Given the description of an element on the screen output the (x, y) to click on. 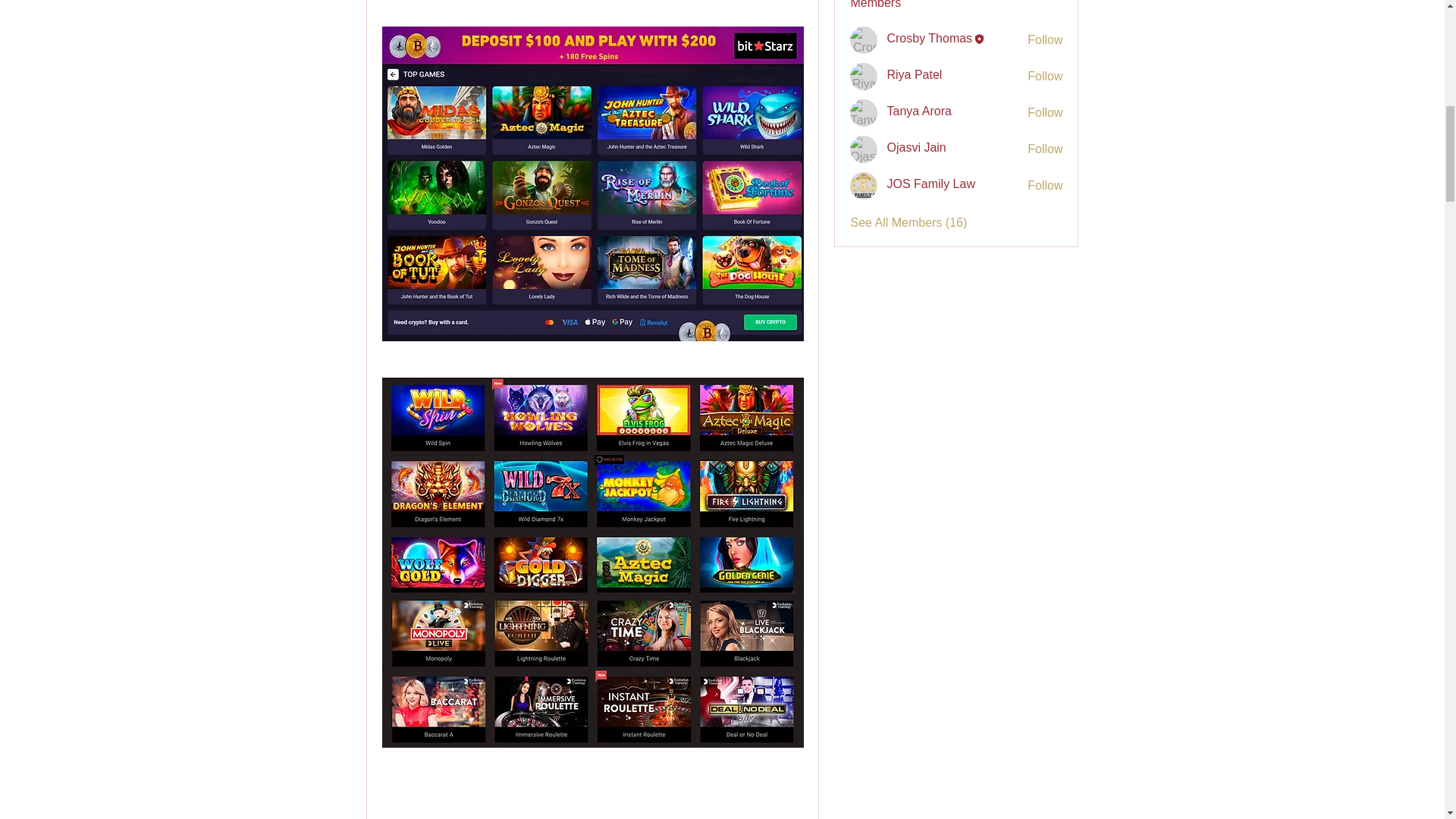
Crosby Thomas (863, 40)
Ojasvi Jain (863, 148)
Riya Patel (863, 76)
JOS Family Law (863, 185)
Tanya Arora (863, 112)
